Given the description of an element on the screen output the (x, y) to click on. 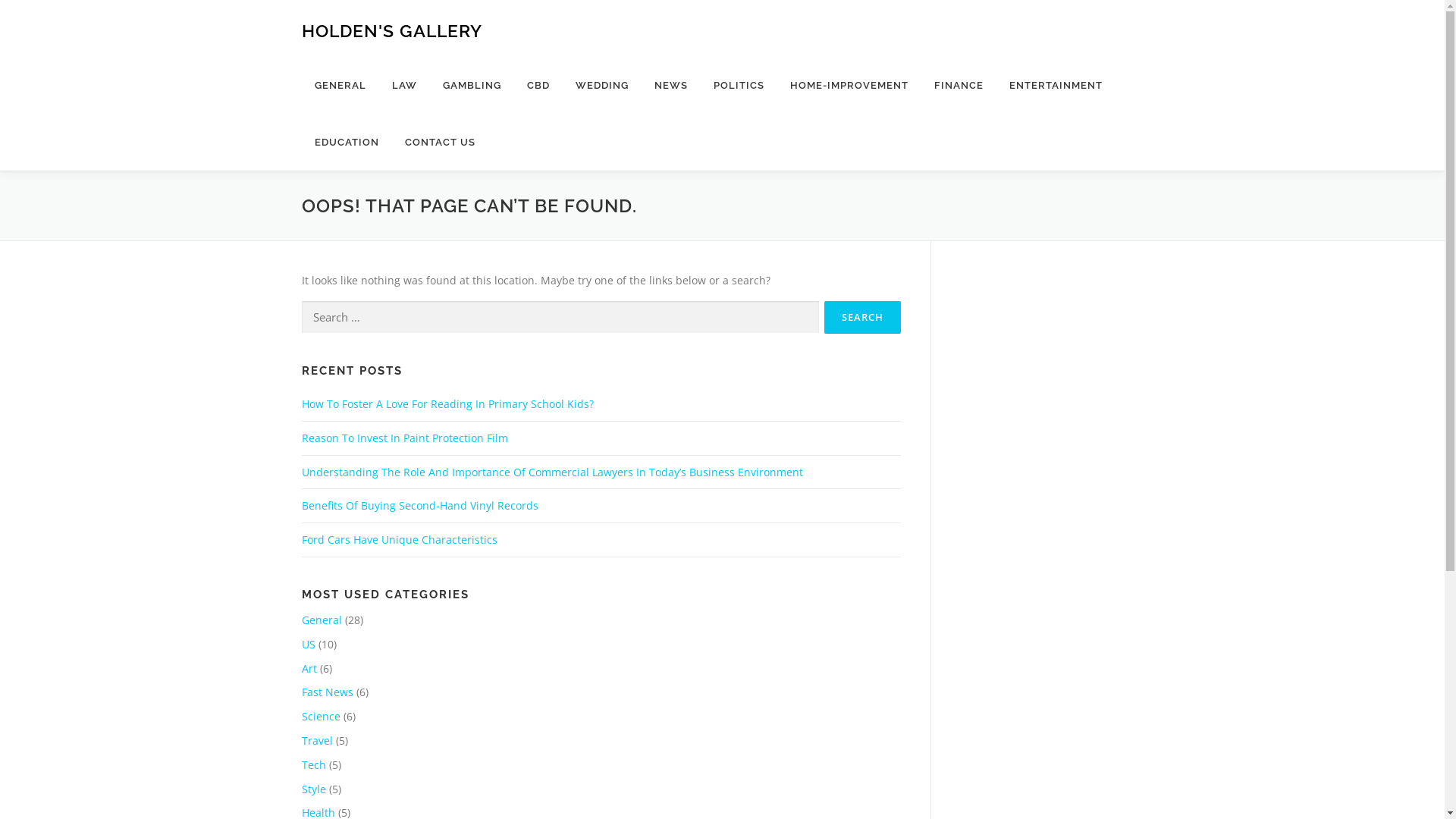
POLITICS Element type: text (738, 84)
FINANCE Element type: text (957, 84)
HOME-IMPROVEMENT Element type: text (848, 84)
GENERAL Element type: text (340, 84)
General Element type: text (321, 619)
WEDDING Element type: text (601, 84)
Style Element type: text (313, 788)
LAW Element type: text (404, 84)
Travel Element type: text (316, 740)
HOLDEN'S GALLERY Element type: text (391, 30)
CBD Element type: text (538, 84)
Ford Cars Have Unique Characteristics Element type: text (399, 539)
CONTACT US Element type: text (432, 141)
Search Element type: text (861, 317)
Art Element type: text (308, 668)
Reason To Invest In Paint Protection Film Element type: text (404, 437)
Fast News Element type: text (327, 691)
NEWS Element type: text (670, 84)
US Element type: text (308, 644)
GAMBLING Element type: text (471, 84)
EDUCATION Element type: text (346, 141)
Science Element type: text (320, 716)
ENTERTAINMENT Element type: text (1055, 84)
Tech Element type: text (313, 764)
How To Foster A Love For Reading In Primary School Kids? Element type: text (447, 403)
Benefits Of Buying Second-Hand Vinyl Records Element type: text (419, 505)
